Given the description of an element on the screen output the (x, y) to click on. 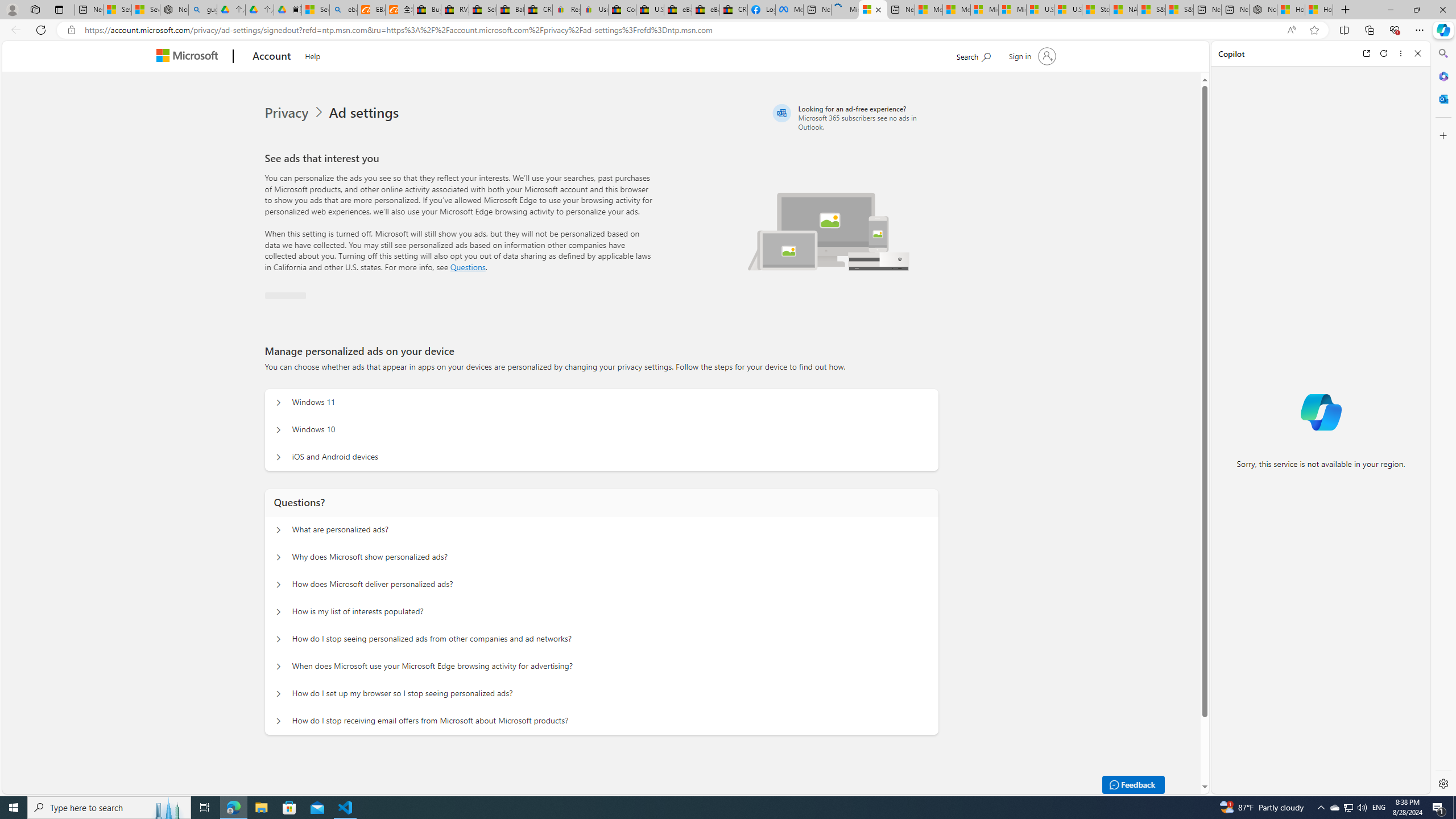
Customize (1442, 135)
Buy Auto Parts & Accessories | eBay (426, 9)
Illustration of multiple devices (829, 231)
Questions? Why does Microsoft show personalized ads? (278, 557)
Manage personalized ads on your device Windows 10 (278, 429)
